Given the description of an element on the screen output the (x, y) to click on. 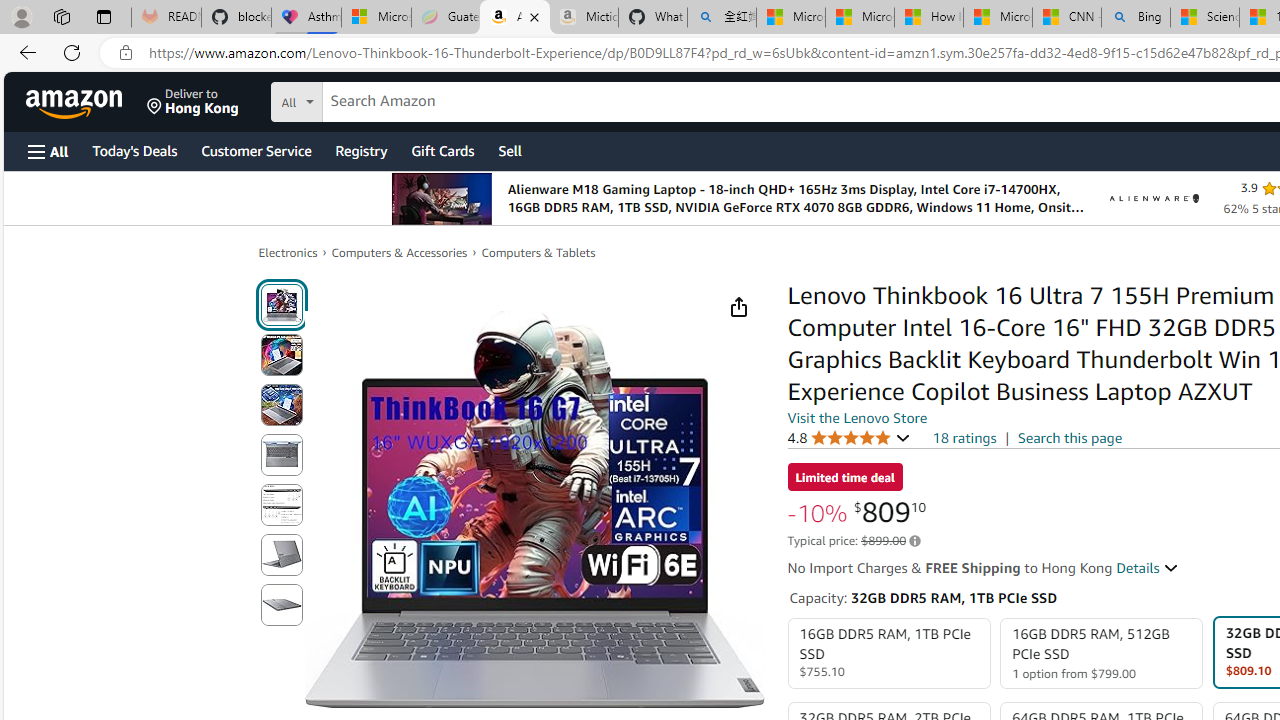
Computers & Accessories (399, 251)
18 ratings (964, 438)
16GB DDR5 RAM, 512GB PCIe SSD 1 option from $799.00 (1101, 653)
How I Got Rid of Microsoft Edge's Unnecessary Features (928, 17)
Computers & Accessories (399, 252)
Learn more about Amazon pricing and savings (914, 541)
Electronics (287, 251)
16GB DDR5 RAM, 1TB PCIe SSD $755.10 (888, 653)
Deliver to Hong Kong (193, 101)
Computers & Tablets (538, 251)
